Given the description of an element on the screen output the (x, y) to click on. 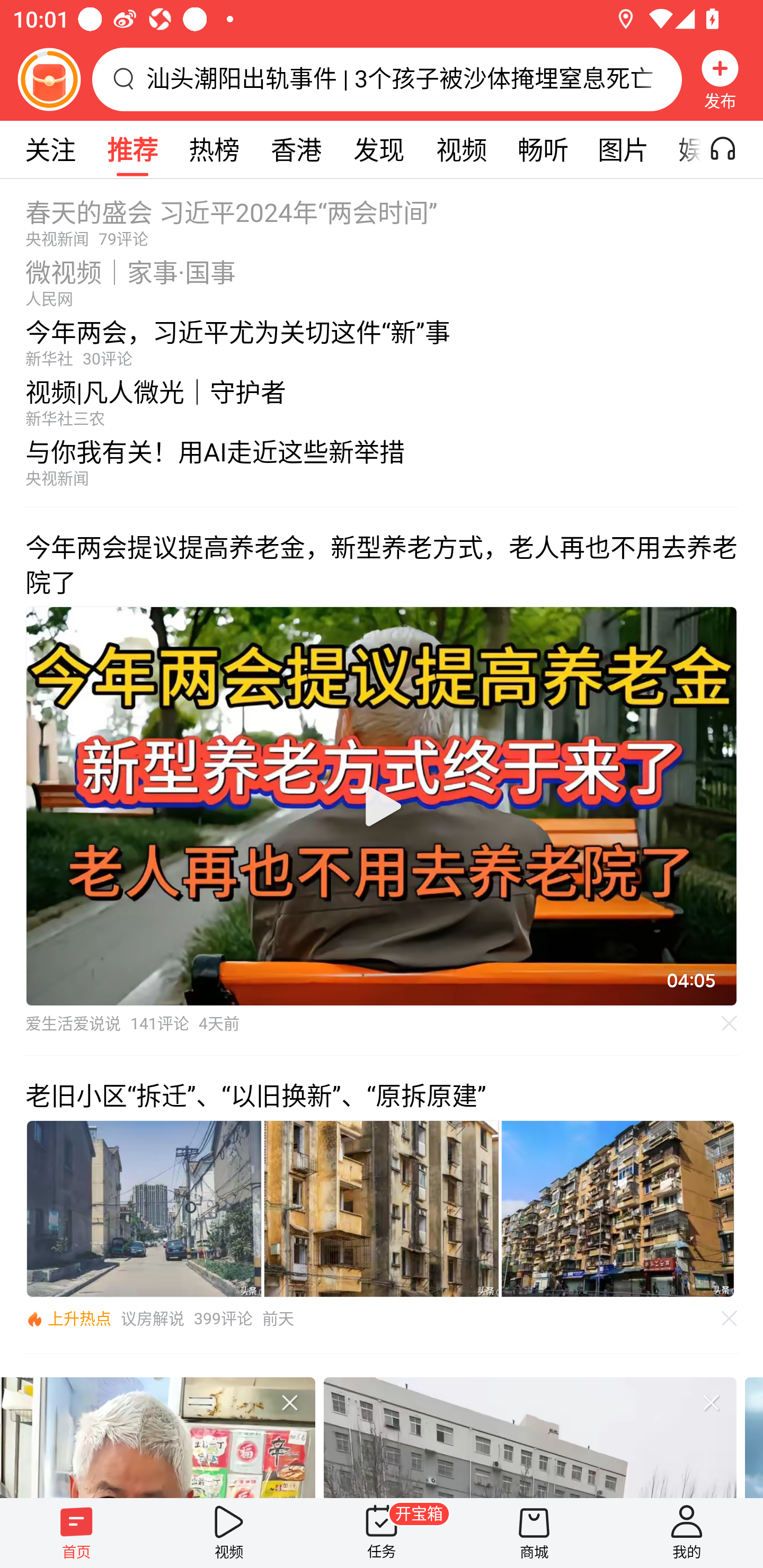
阅读赚金币 (48, 79)
发布 发布，按钮 (720, 78)
关注 (50, 149)
推荐 (132, 149)
热榜 (213, 149)
香港 (295, 149)
发现 (378, 149)
视频 (461, 149)
畅听 (542, 149)
图片 (623, 149)
听一听开关 (732, 149)
微视频｜家事·国事人民网 视频 微视频｜家事·国事 人民网 (381, 277)
视频|凡人微光｜守护者新华社三农 文章 视频|凡人微光｜守护者 新华社三农 (381, 398)
与你我有关！用AI走近这些新举措央视新闻 文章 与你我有关！用AI走近这些新举措 央视新闻 (381, 467)
播放视频 视频播放器，双击屏幕打开播放控制 (381, 805)
播放视频 (381, 806)
不感兴趣 (729, 1023)
内容图片 (143, 1208)
内容图片 (381, 1208)
内容图片 (617, 1208)
不感兴趣 (729, 1318)
不感兴趣 (289, 1402)
不感兴趣 (711, 1402)
首页 (76, 1532)
视频 (228, 1532)
任务 开宝箱 (381, 1532)
商城 (533, 1532)
我的 (686, 1532)
